Given the description of an element on the screen output the (x, y) to click on. 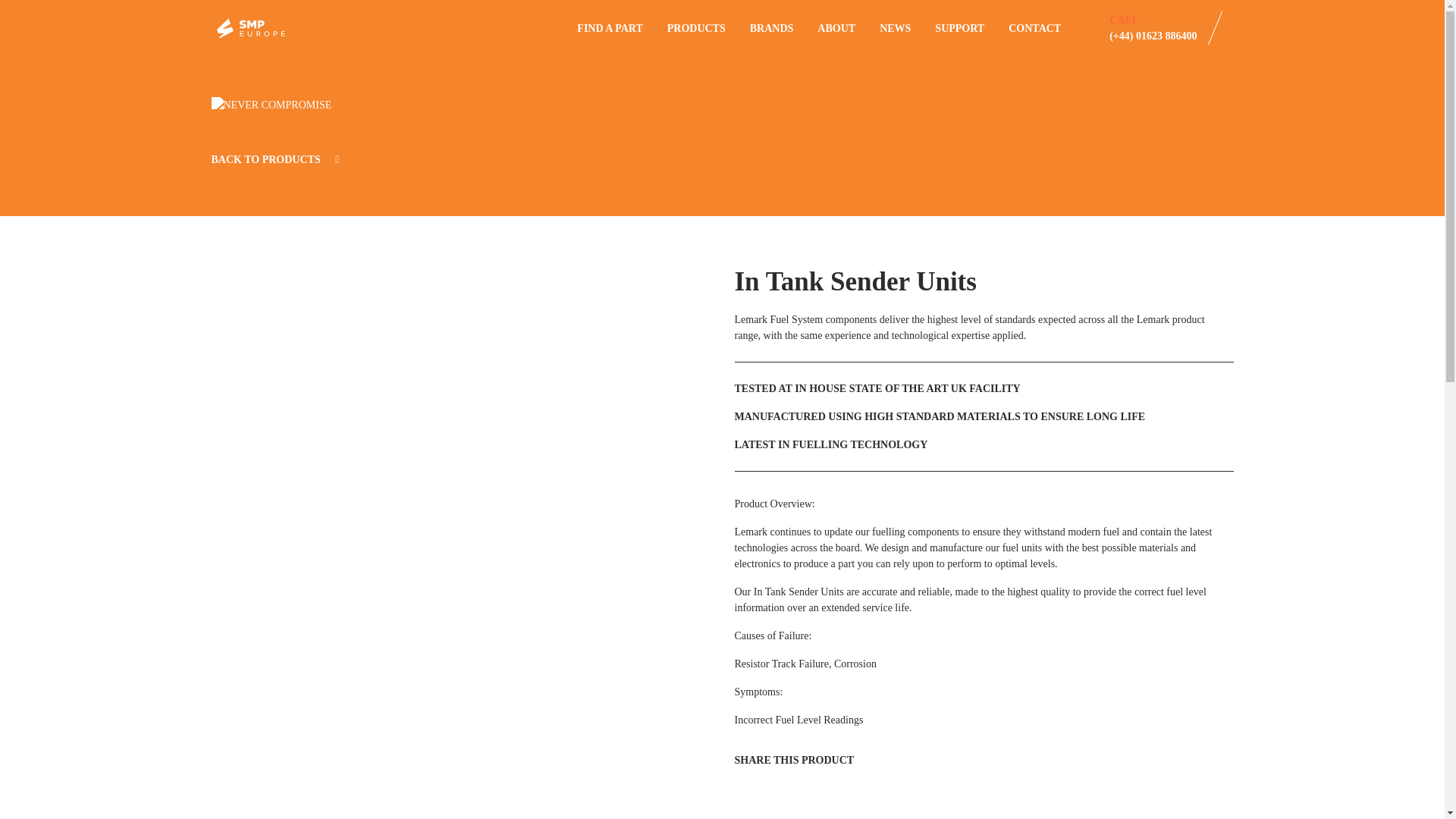
BACK TO PRODUCTS (275, 159)
BRANDS (771, 28)
NEWS (895, 28)
SUPPORT (959, 28)
CONTACT (1035, 28)
ABOUT (836, 28)
PRODUCTS (695, 28)
FIND A PART (609, 28)
